Given the description of an element on the screen output the (x, y) to click on. 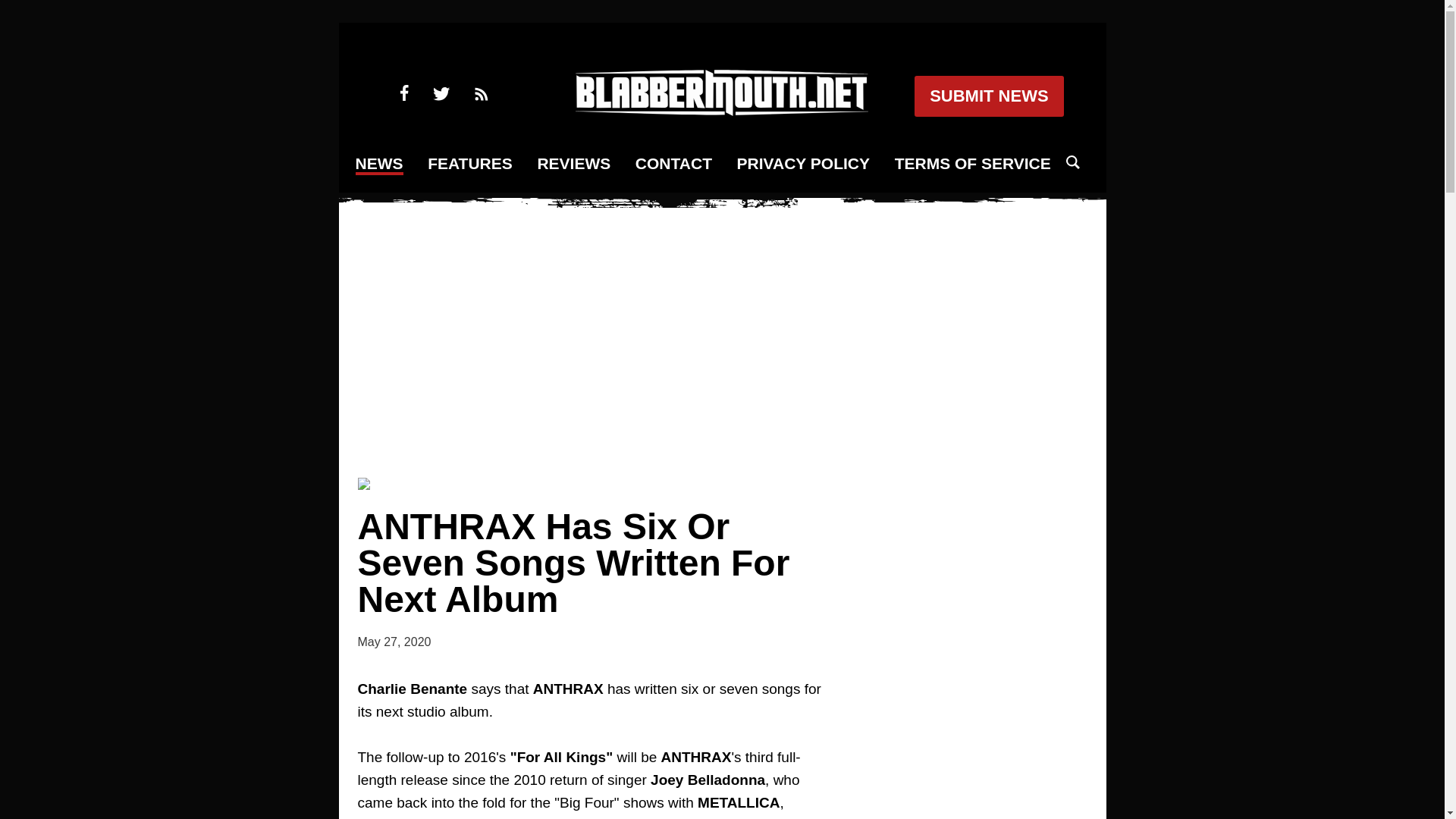
REVIEWS (573, 163)
TERMS OF SERVICE (973, 163)
NEWS (379, 164)
PRIVACY POLICY (802, 163)
SUBMIT NEWS (988, 96)
blabbermouth (721, 110)
search icon (1072, 161)
FEATURES (470, 163)
CONTACT (672, 163)
